Given the description of an element on the screen output the (x, y) to click on. 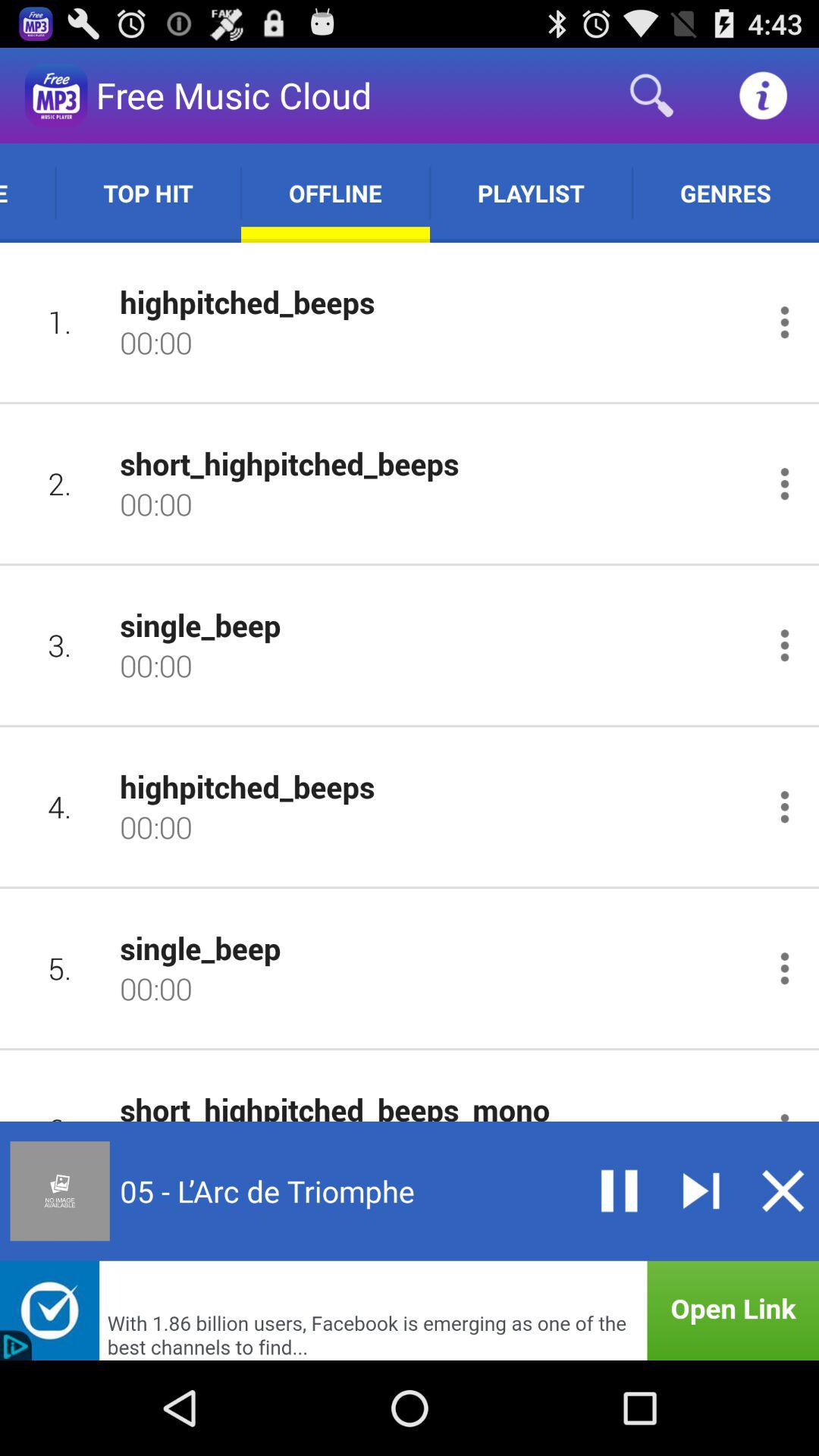
play next song (701, 1190)
